Given the description of an element on the screen output the (x, y) to click on. 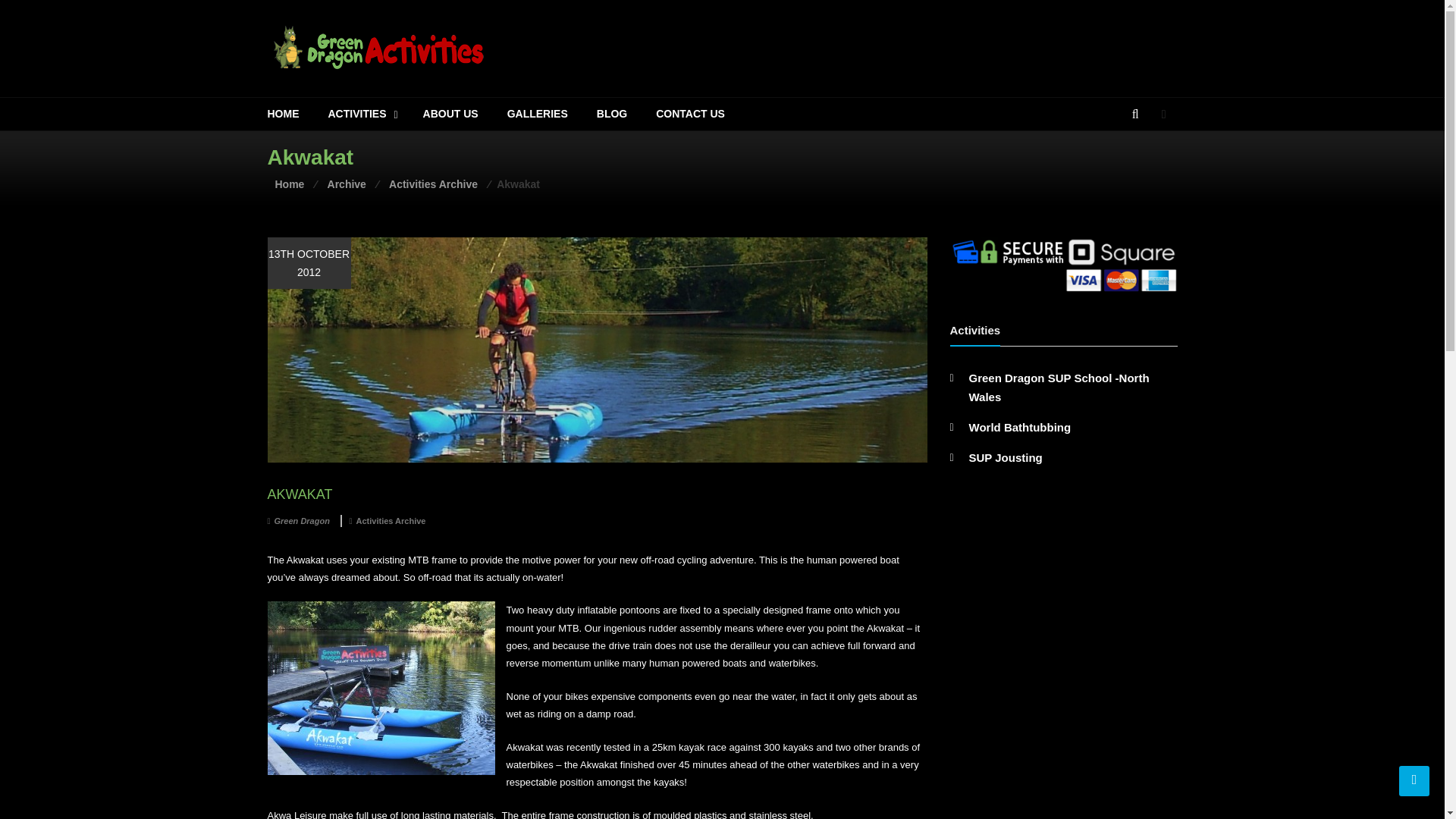
BLOG (611, 113)
ABOUT US (451, 113)
World Bathtubbing (1020, 427)
GALLERIES (536, 113)
HOME (282, 113)
Home (289, 184)
Archive (346, 184)
Search (1123, 165)
Green Dragon (302, 519)
